Given the description of an element on the screen output the (x, y) to click on. 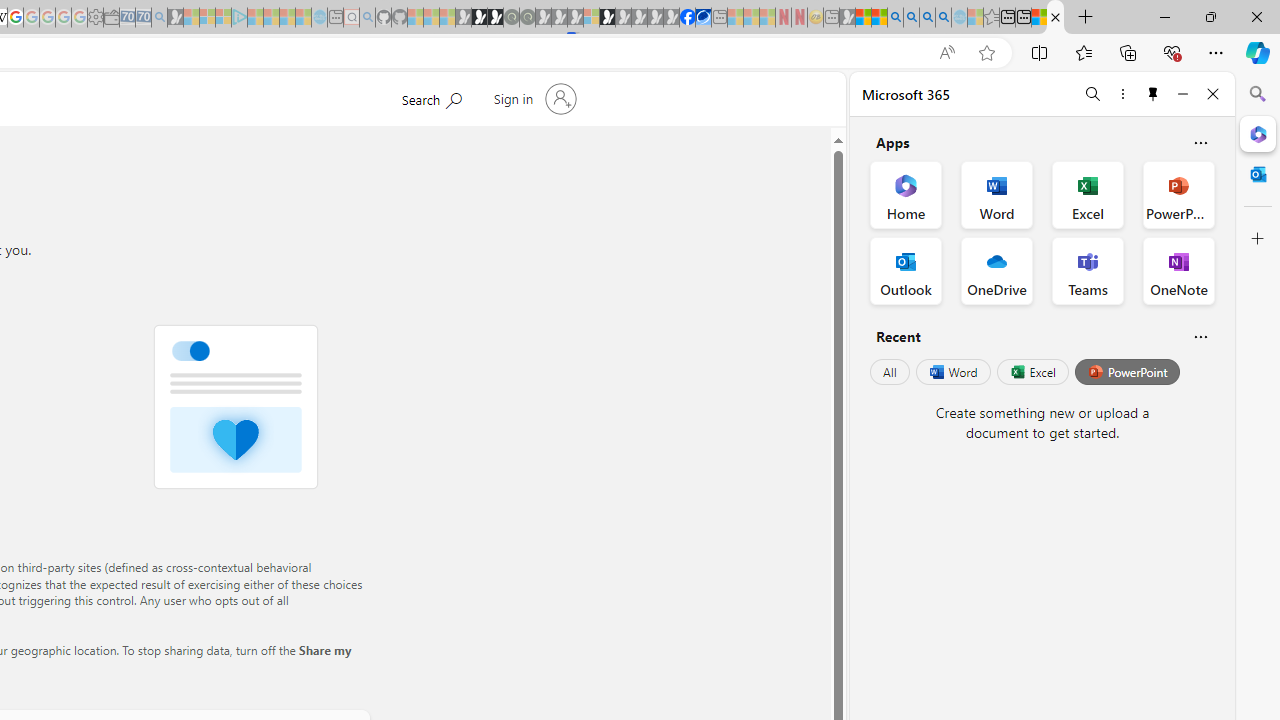
Excel (1031, 372)
Excel Office App (1087, 194)
Outlook Office App (906, 270)
2009 Bing officially replaced Live Search on June 3 - Search (911, 17)
